Given the description of an element on the screen output the (x, y) to click on. 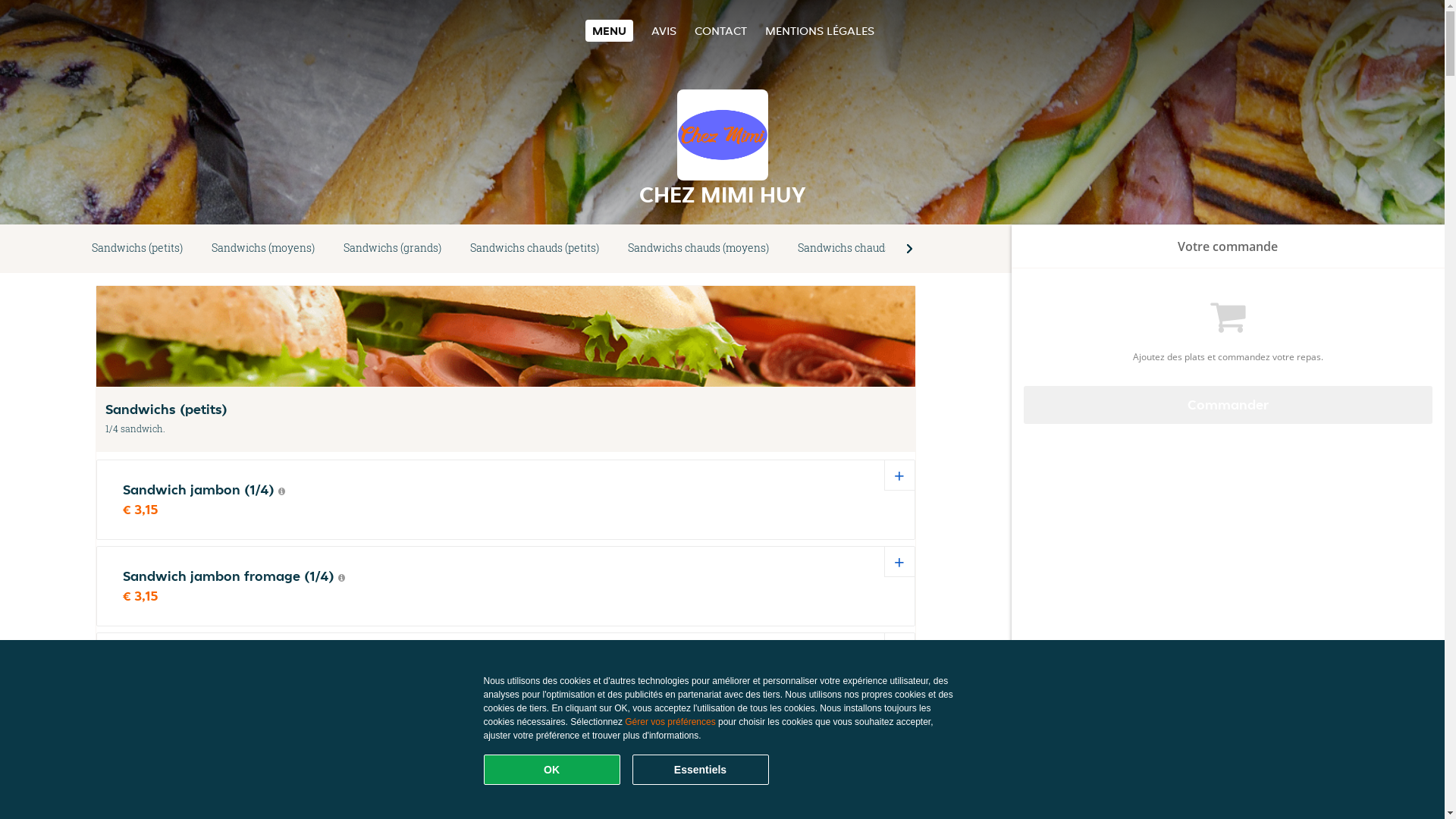
Sandwichs chauds (grands) Element type: text (865, 248)
Plus d'informations sur le produit Element type: hover (348, 750)
Sandwichs chauds (petits) Element type: text (534, 248)
CONTACT Element type: text (720, 30)
Commander Element type: text (1228, 404)
Plus d'informations sur le produit Element type: hover (341, 577)
Plus d'informations sur le produit Element type: hover (291, 663)
Sandwichs (grands) Element type: text (392, 248)
Sandwichs (petits) Element type: text (137, 248)
MENU Element type: text (609, 30)
Plus d'informations sur le produit Element type: hover (281, 491)
Sandwichs (moyens) Element type: text (263, 248)
AVIS Element type: text (663, 30)
Sandwichs chauds (moyens) Element type: text (698, 248)
Essentiels Element type: text (700, 769)
OK Element type: text (551, 769)
